Given the description of an element on the screen output the (x, y) to click on. 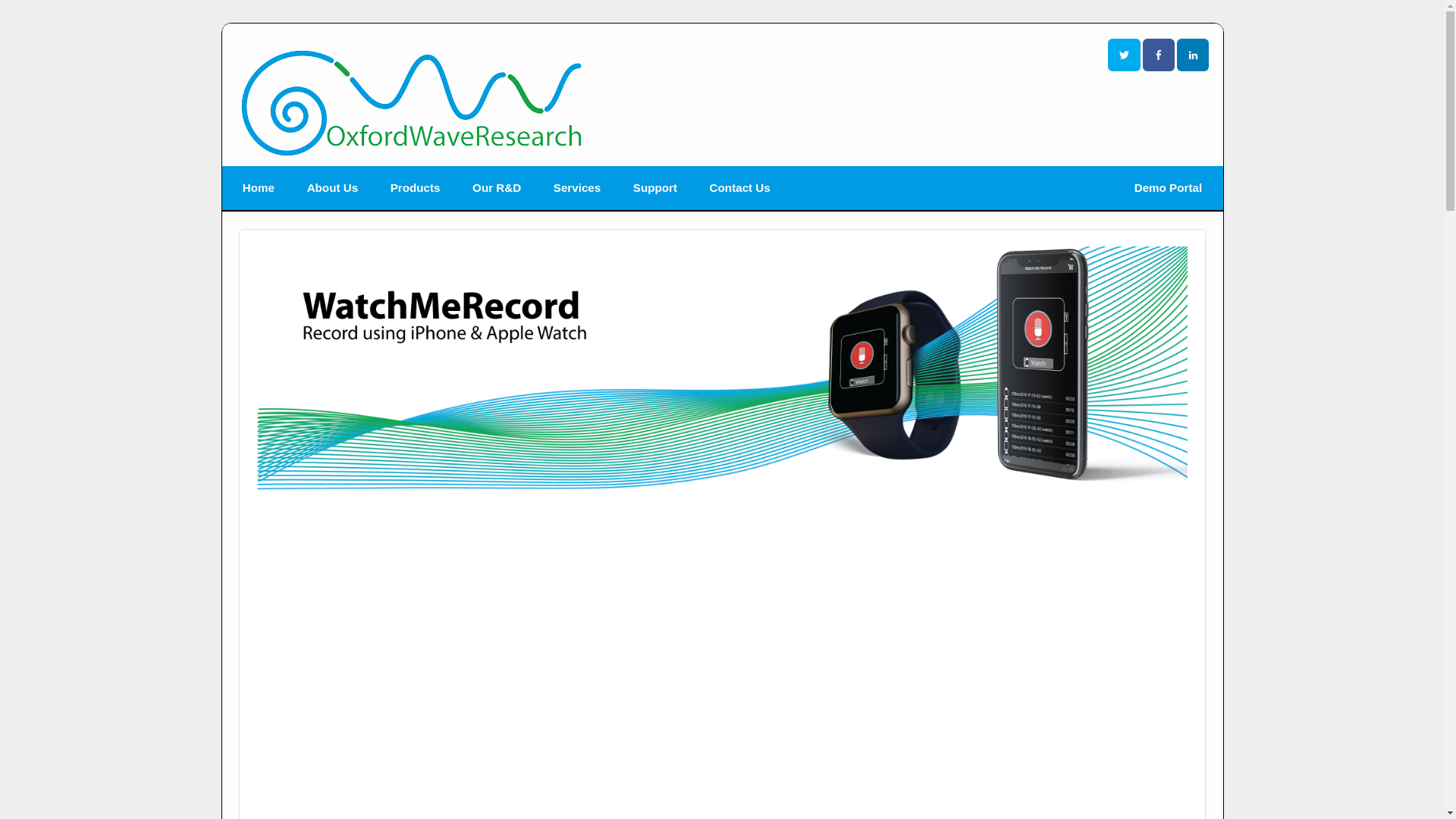
Demo Portal (1167, 187)
About Us (331, 187)
Contact Us (739, 187)
Home (259, 187)
Products (414, 187)
Support (655, 187)
Services (576, 187)
